Given the description of an element on the screen output the (x, y) to click on. 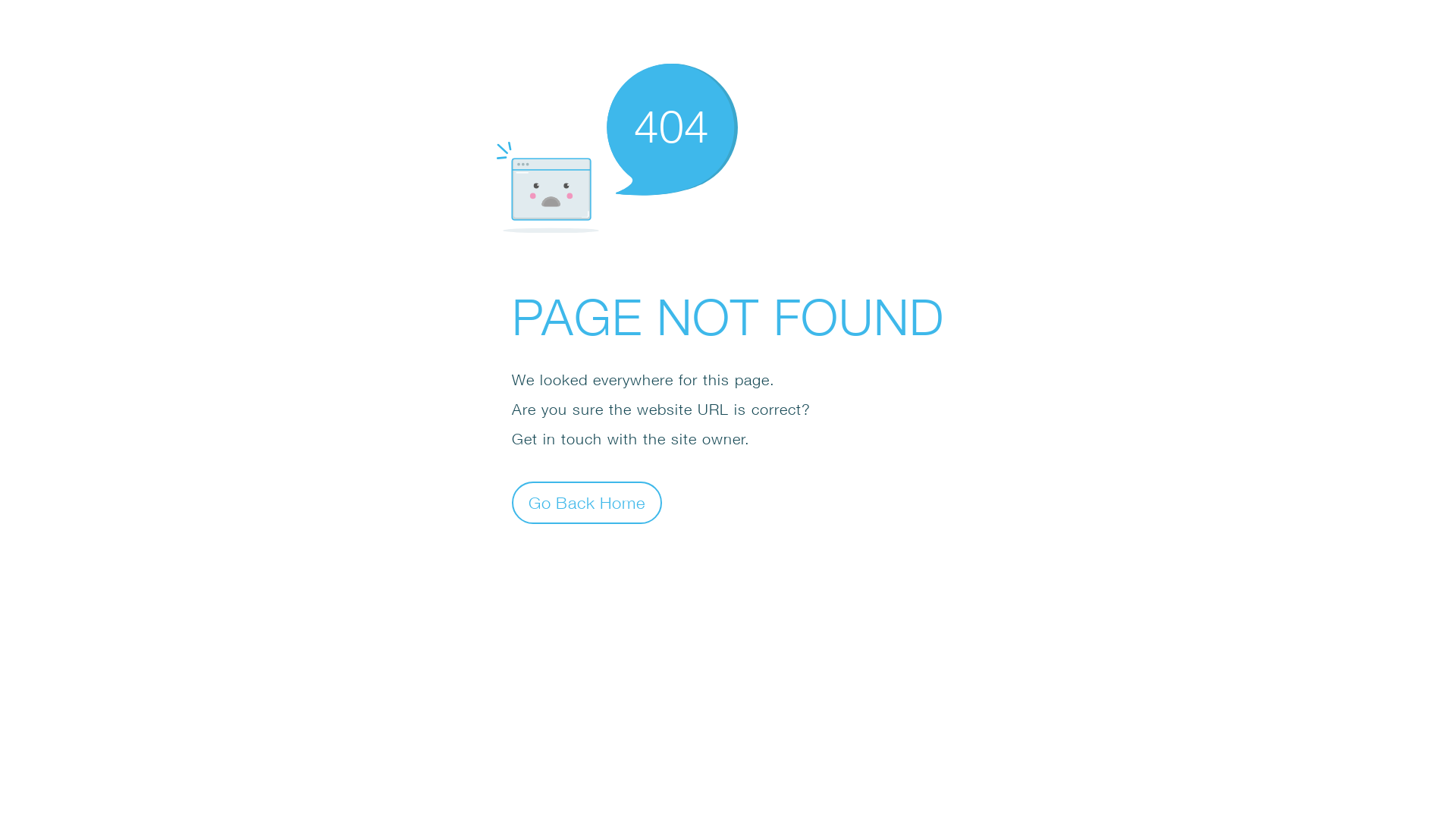
Go Back Home Element type: text (586, 502)
